Given the description of an element on the screen output the (x, y) to click on. 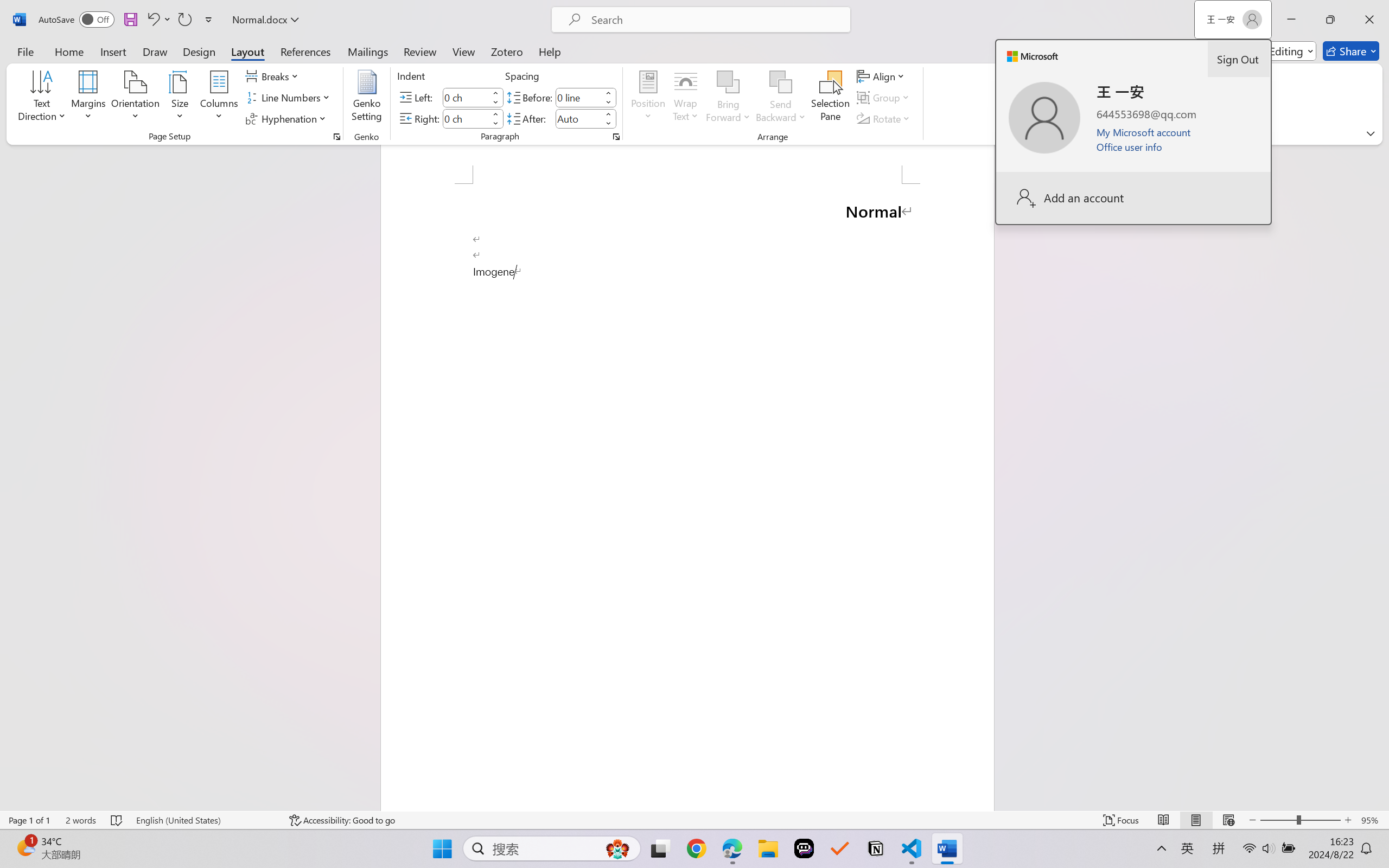
Send Backward (781, 81)
Bring Forward (728, 81)
Class: NetUIScrollBar (1382, 477)
